Given the description of an element on the screen output the (x, y) to click on. 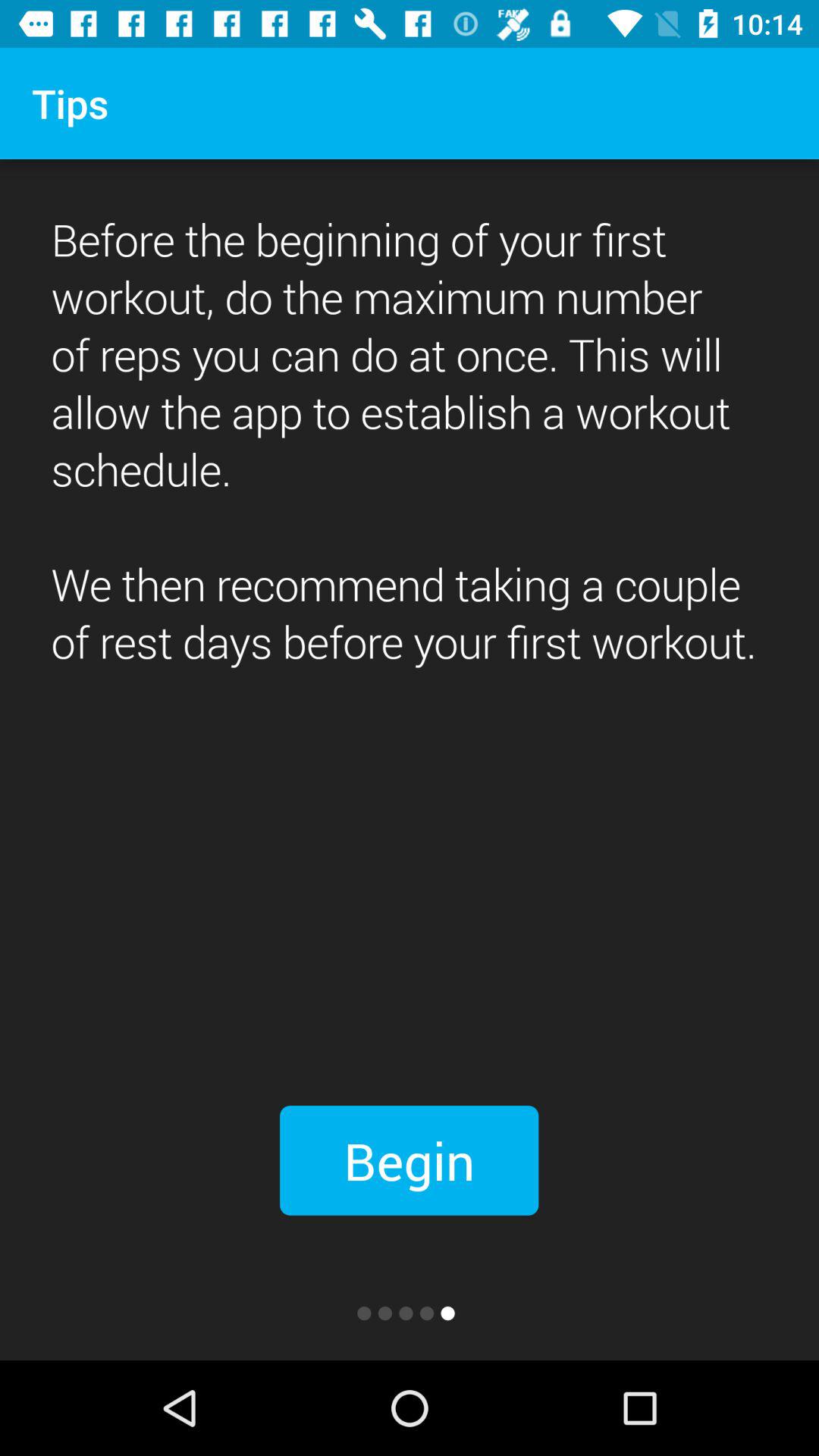
swipe to begin item (408, 1160)
